Given the description of an element on the screen output the (x, y) to click on. 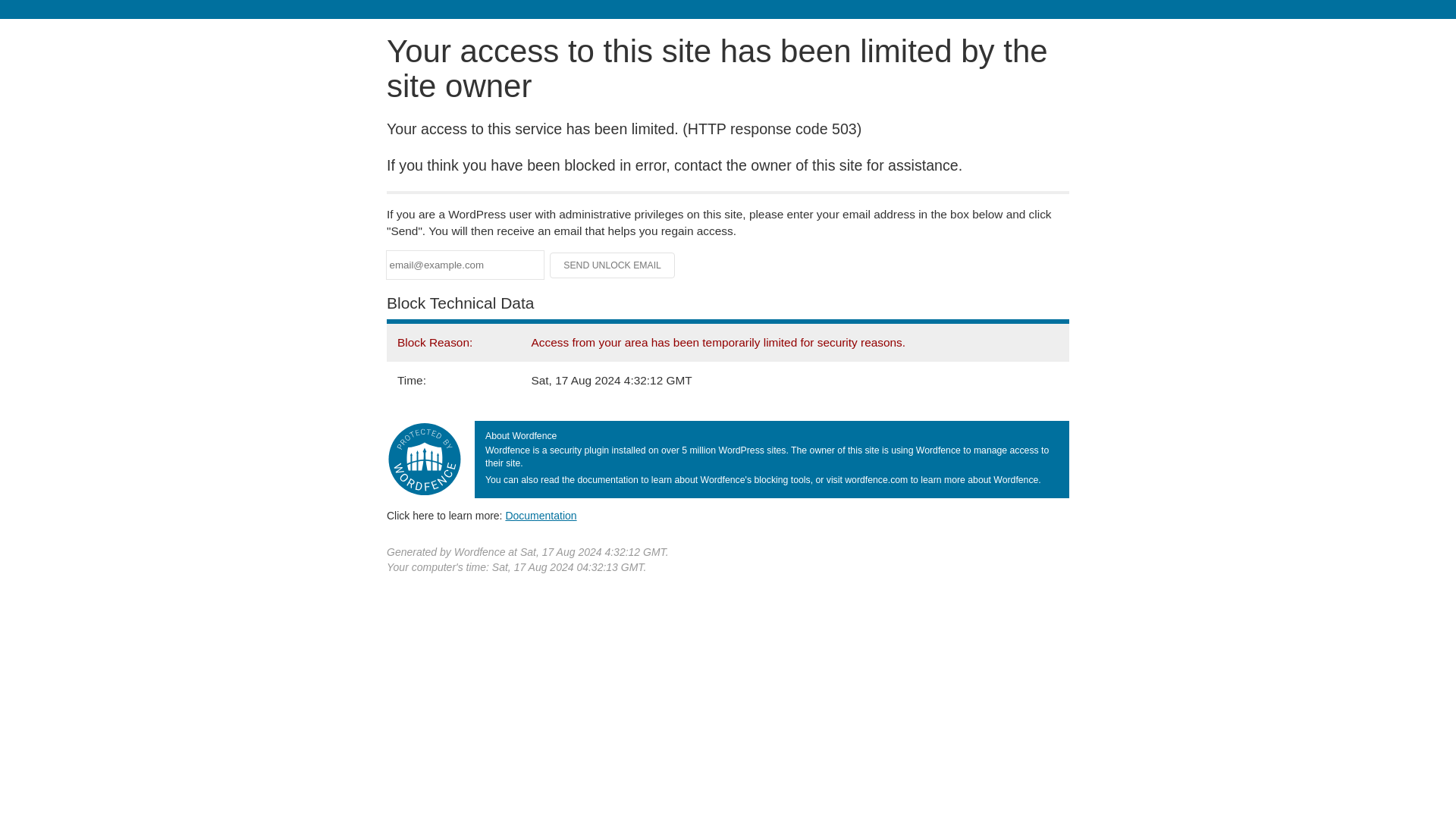
Send Unlock Email (612, 265)
Documentation (540, 515)
Send Unlock Email (612, 265)
